Given the description of an element on the screen output the (x, y) to click on. 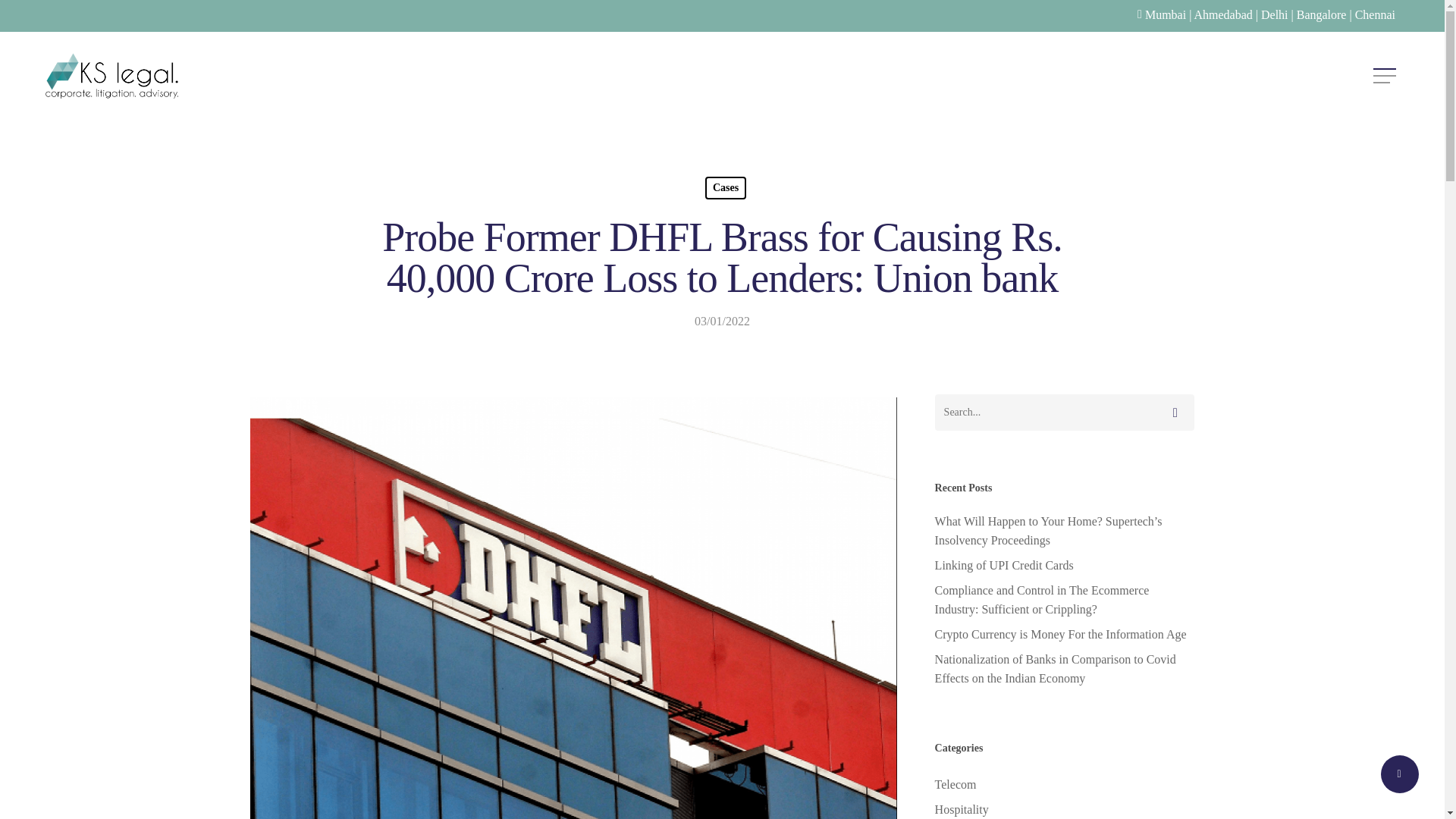
Linking of UPI Credit Cards (1063, 565)
Crypto Currency is Money For the Information Age (1063, 633)
Cases (724, 187)
Hospitality (1063, 809)
Telecom (1063, 783)
Search for: (1063, 411)
